Given the description of an element on the screen output the (x, y) to click on. 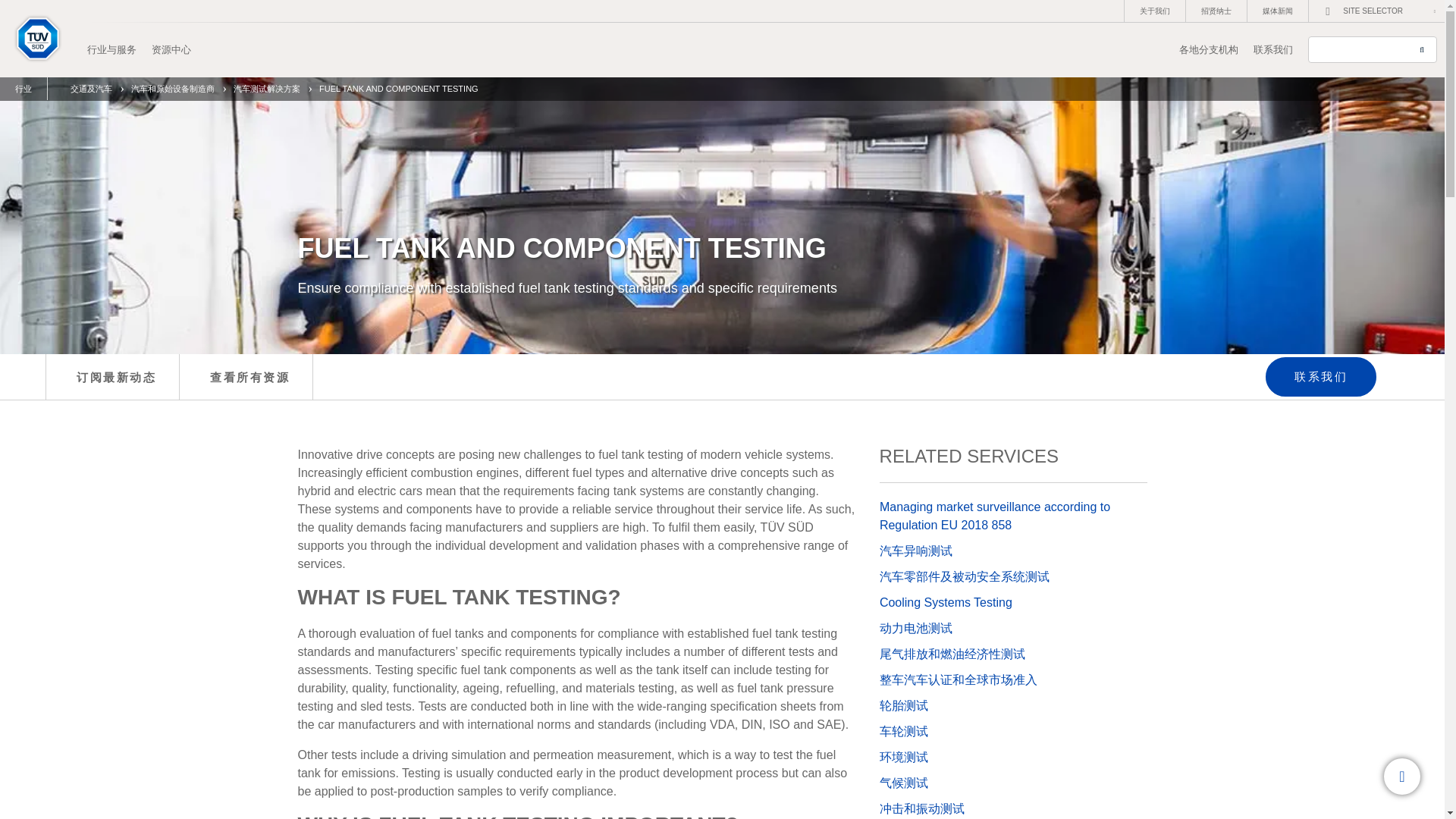
Home (43, 38)
